Given the description of an element on the screen output the (x, y) to click on. 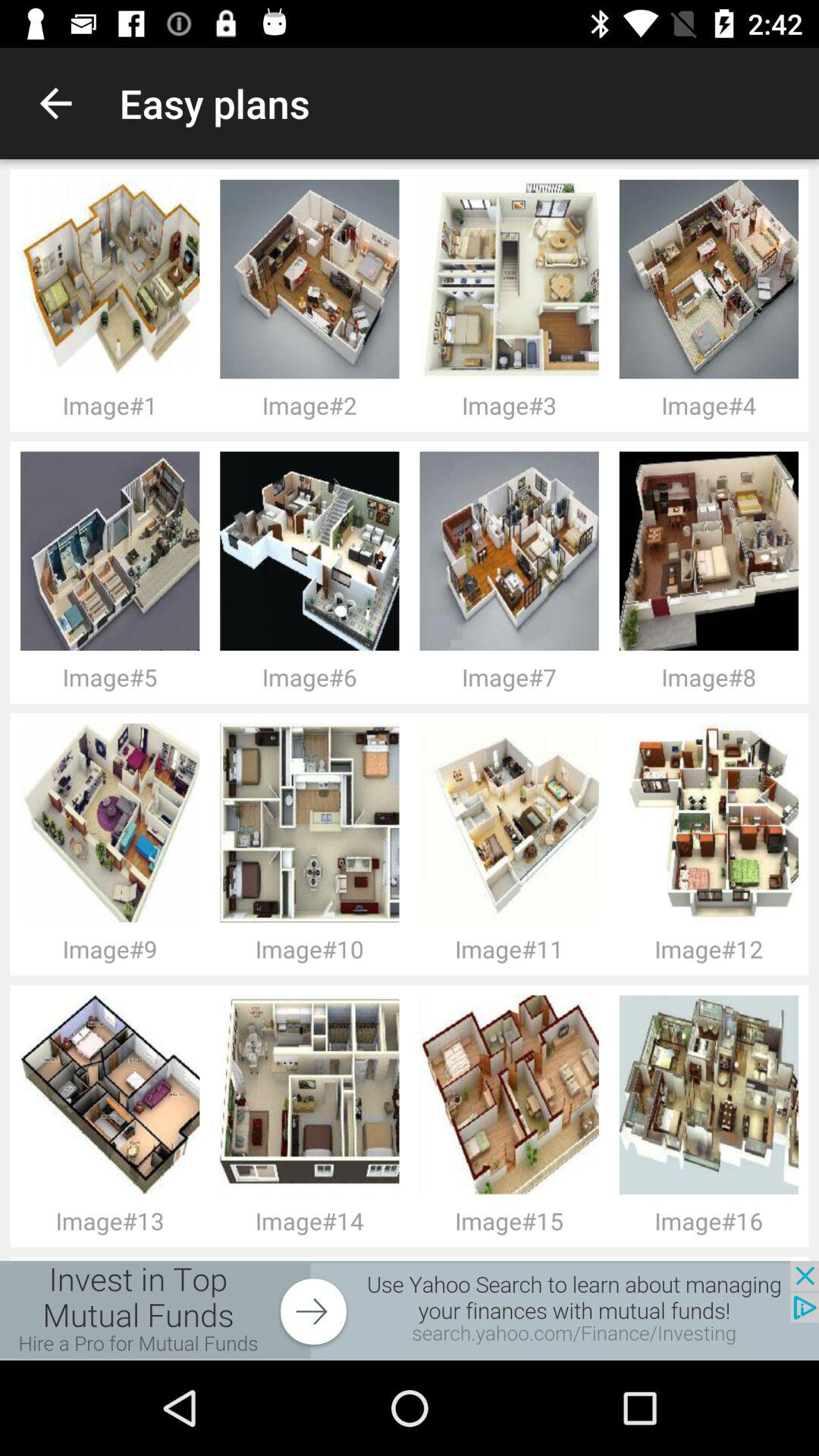
select icon to the left of easy plans  item (55, 103)
